Given the description of an element on the screen output the (x, y) to click on. 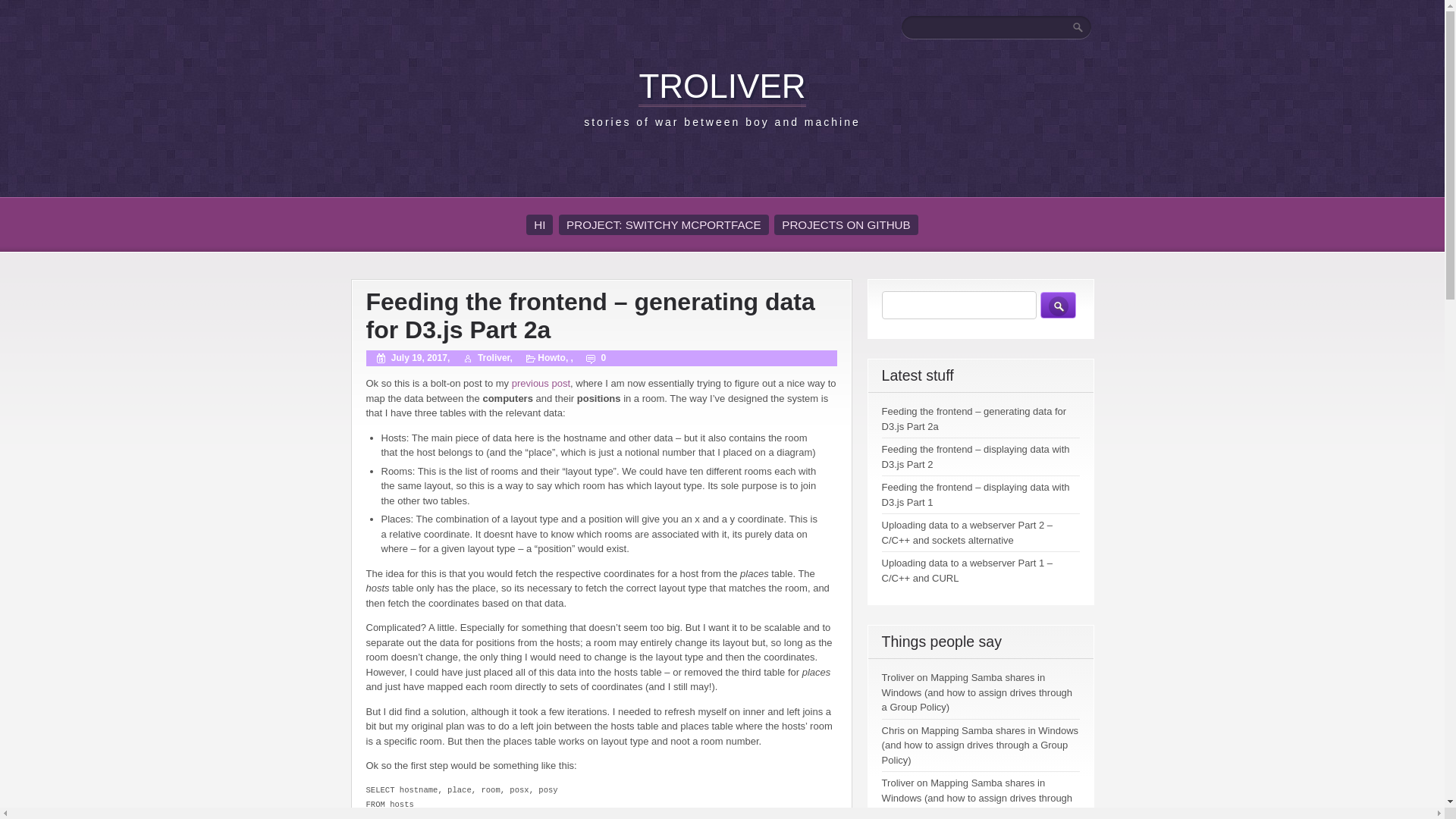
previous post (541, 383)
Search (1078, 26)
PROJECT: SWITCHY MCPORTFACE (663, 224)
0 (590, 357)
HI (539, 224)
TROLIVER (722, 87)
Search (1058, 304)
Howto (551, 357)
PROJECTS ON GITHUB (845, 224)
